Given the description of an element on the screen output the (x, y) to click on. 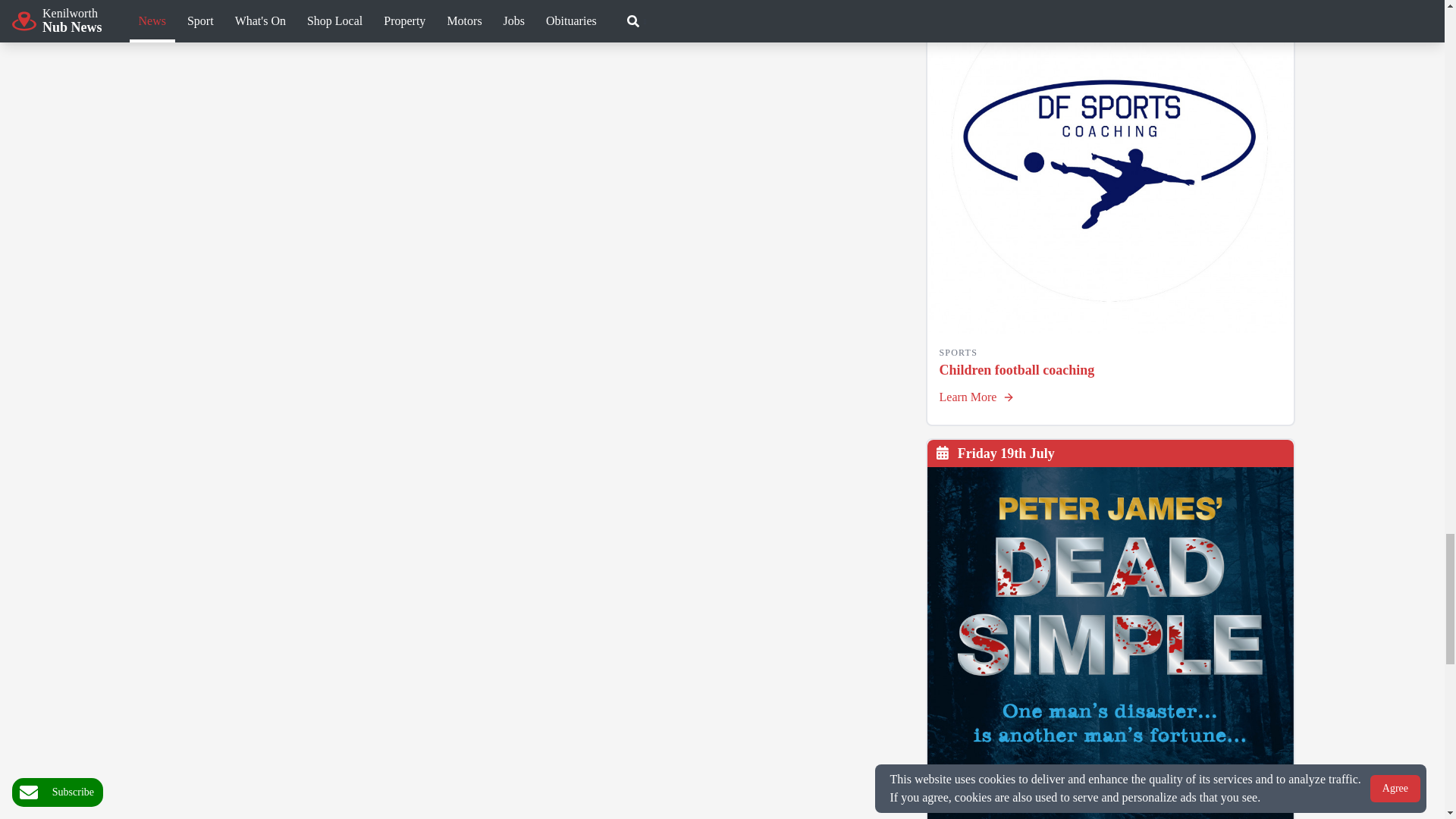
Dead Simple (1110, 642)
Children football coaching (1110, 167)
